Given the description of an element on the screen output the (x, y) to click on. 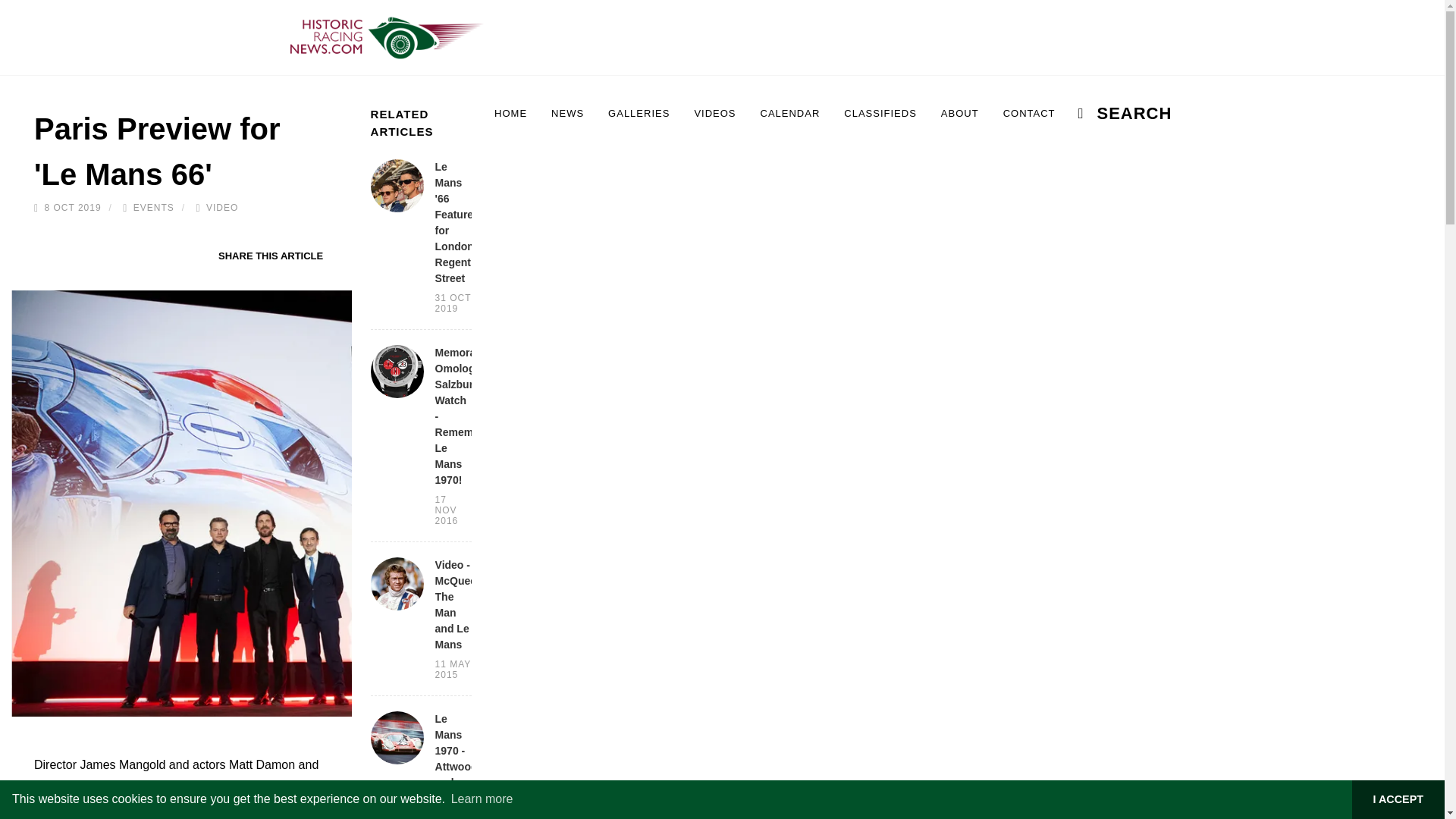
Learn more (481, 798)
HOME (510, 113)
VIDEOS (714, 113)
CONTACT (1029, 113)
NEWS (567, 113)
CALENDAR (790, 113)
VIDEO (222, 207)
CLASSIFIEDS (880, 113)
SEARCH (1116, 113)
ABOUT (960, 113)
GALLERIES (638, 113)
EVENTS (153, 207)
